Given the description of an element on the screen output the (x, y) to click on. 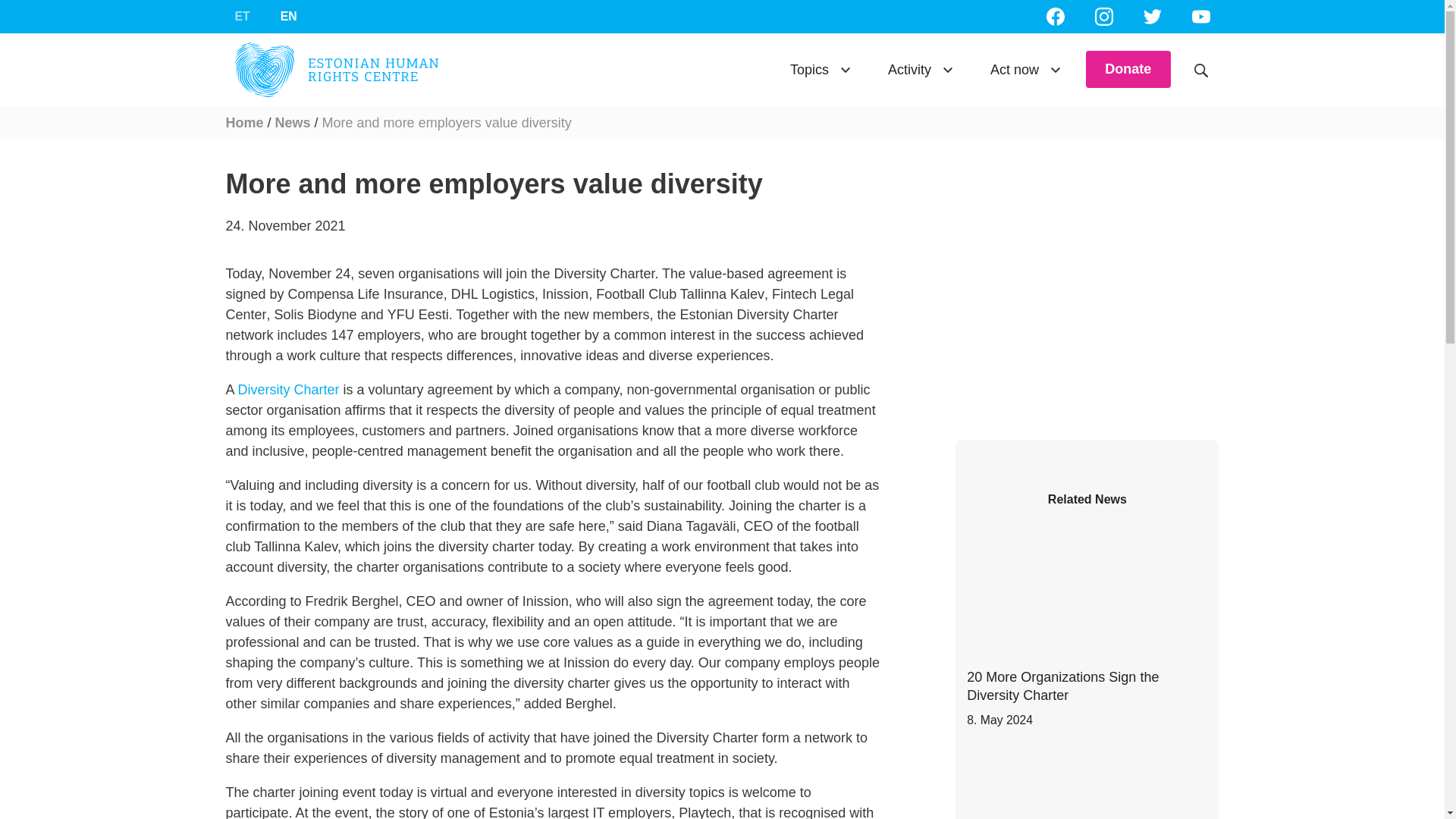
Act now (1026, 68)
Home (244, 122)
EN (287, 16)
Activity (921, 68)
ET (242, 16)
Topics (820, 68)
ET (242, 16)
Diversity Charter (288, 389)
News (293, 122)
Search (1201, 68)
EN (1086, 625)
Donate (287, 16)
